Given the description of an element on the screen output the (x, y) to click on. 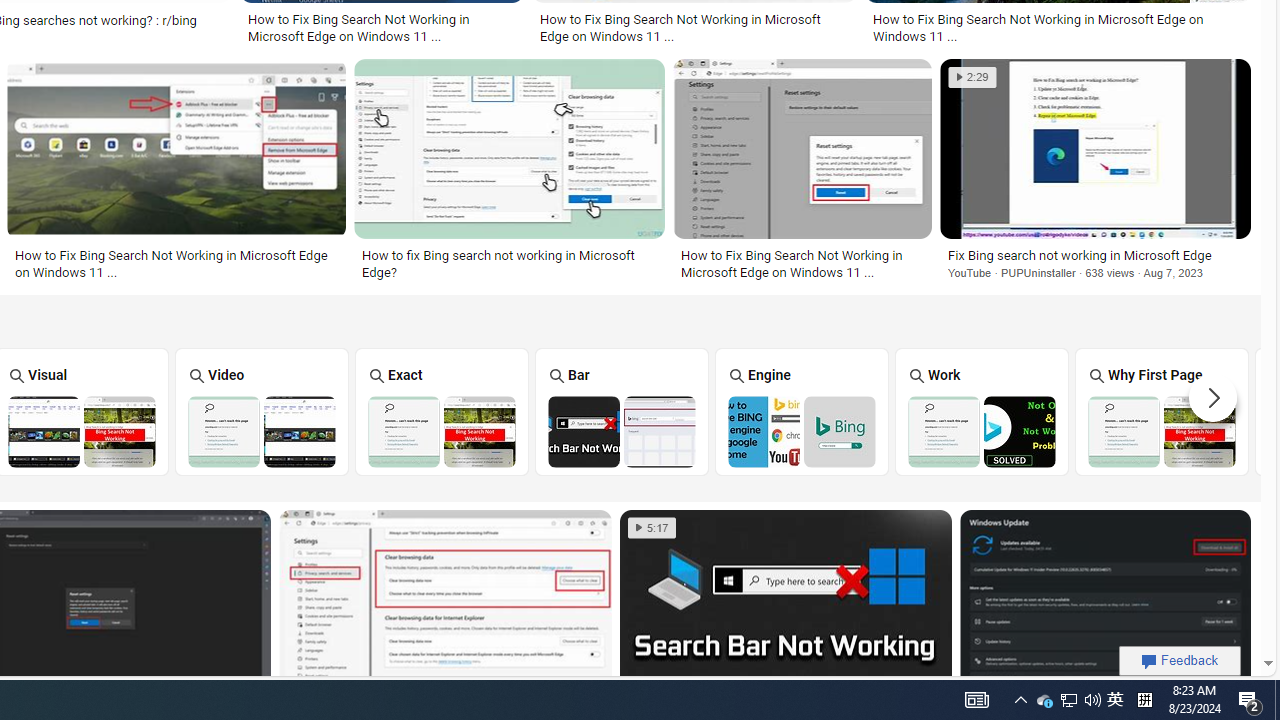
How to fix Bing search not working in Microsoft Edge? (509, 263)
Bing Search Engine Not Working (802, 431)
Scroll more suggestions right (1213, 398)
Why First Page of Bing Search Not Working (1162, 431)
Image result for Bing Search Not Working (1105, 602)
Why First Page (1162, 411)
How to fix Bing search not working in Microsoft Edge? (509, 263)
Bing Exact Search Not Working (441, 431)
Engine (801, 411)
Bing Work Search Not Working Work (981, 411)
Fix Bing search not working in Microsoft Edge (1095, 255)
Bing Video Search Not Working Video (262, 411)
2:29 (972, 77)
